Given the description of an element on the screen output the (x, y) to click on. 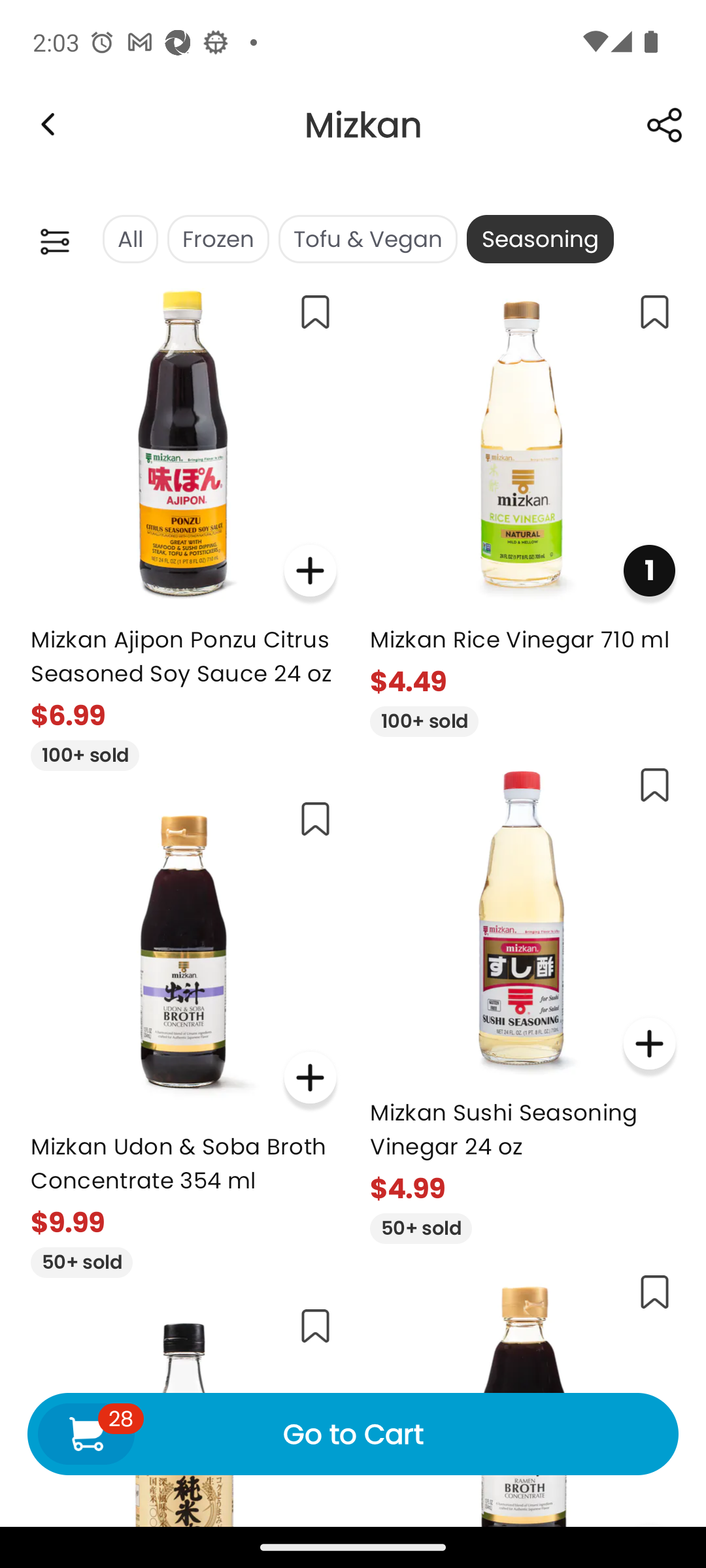
All (130, 238)
Frozen (217, 238)
Tofu & Vegan (367, 238)
Seasoning (539, 238)
1 Mizkan Rice Vinegar 710 ml $4.49 100+ sold (522, 506)
1 (648, 570)
28 Go to Cart (352, 1433)
